Given the description of an element on the screen output the (x, y) to click on. 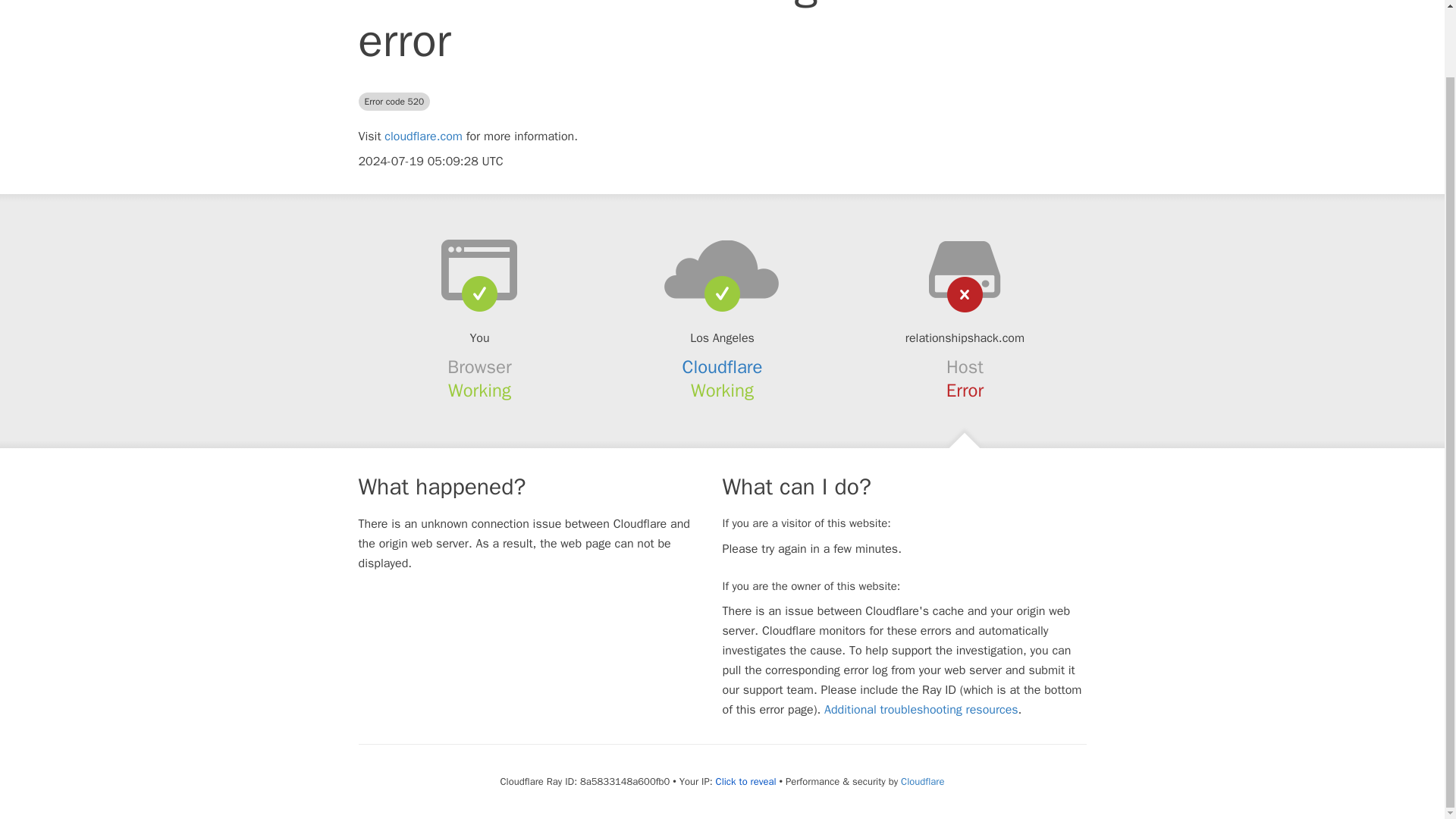
Additional troubleshooting resources (920, 709)
Cloudflare (922, 780)
cloudflare.com (423, 136)
Cloudflare (722, 366)
Click to reveal (746, 781)
